Given the description of an element on the screen output the (x, y) to click on. 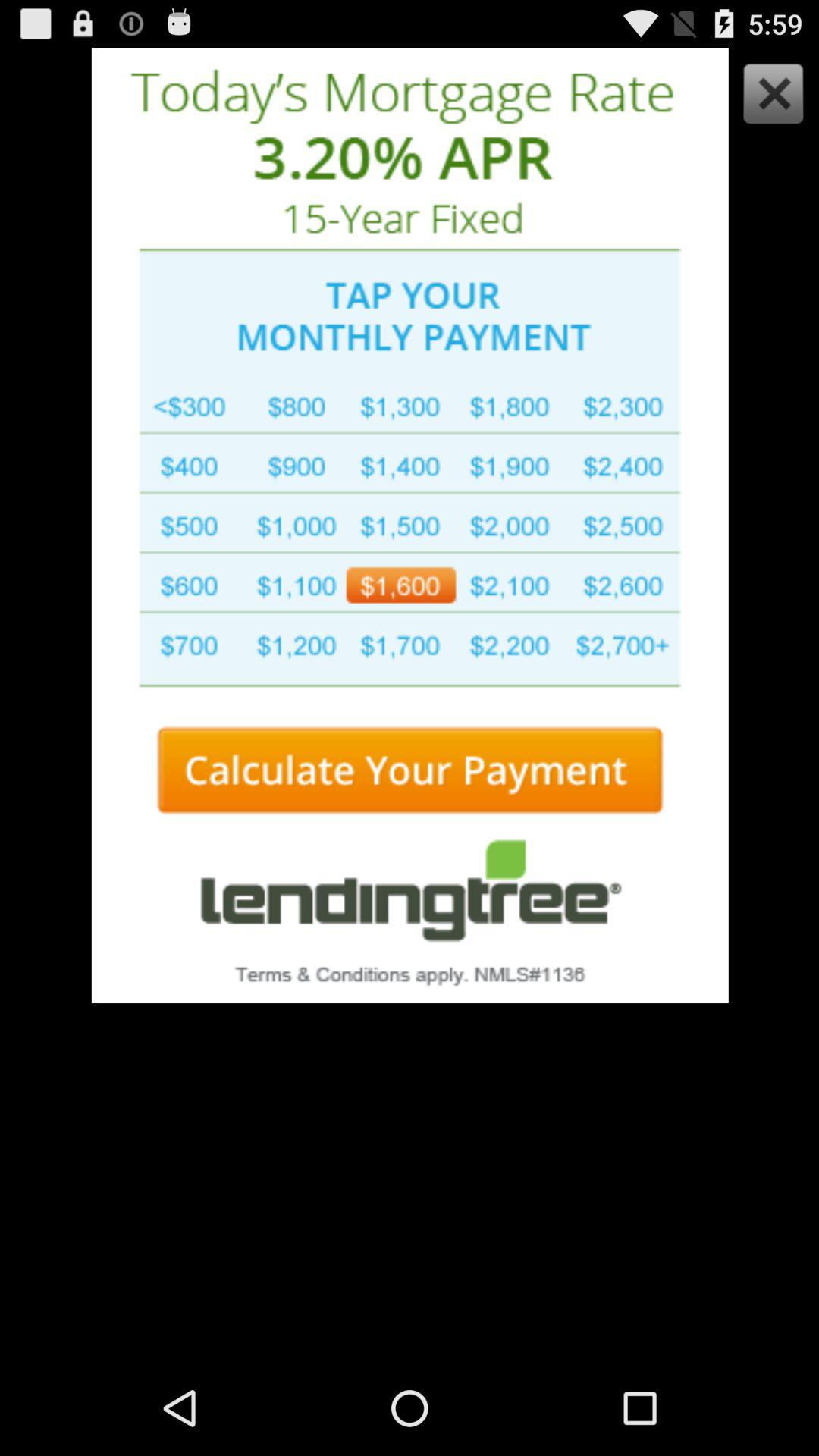
cancel option (769, 97)
